Given the description of an element on the screen output the (x, y) to click on. 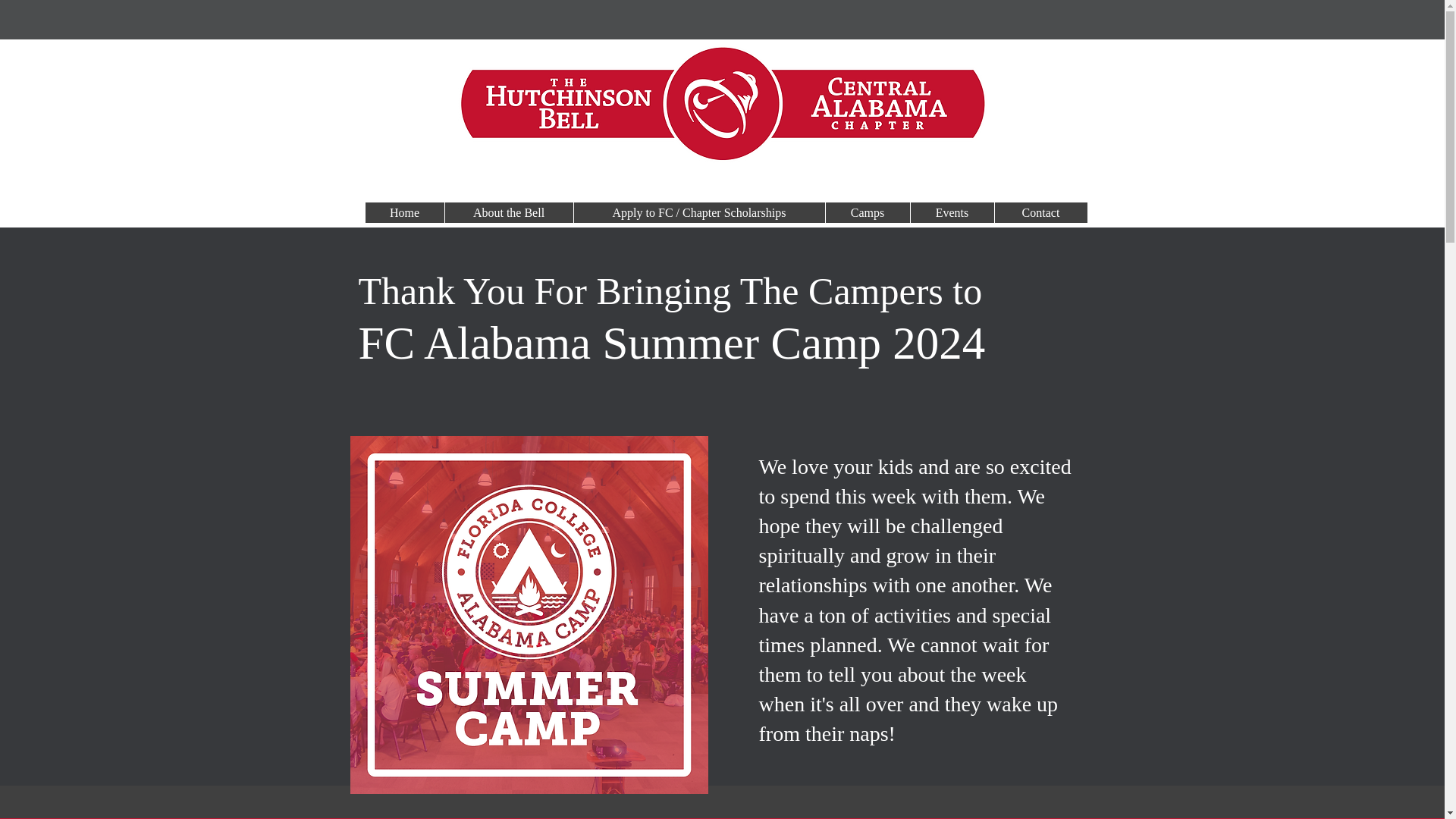
Home (404, 212)
Camps (867, 212)
Contact (1039, 212)
About the Bell (508, 212)
Events (952, 212)
